Given the description of an element on the screen output the (x, y) to click on. 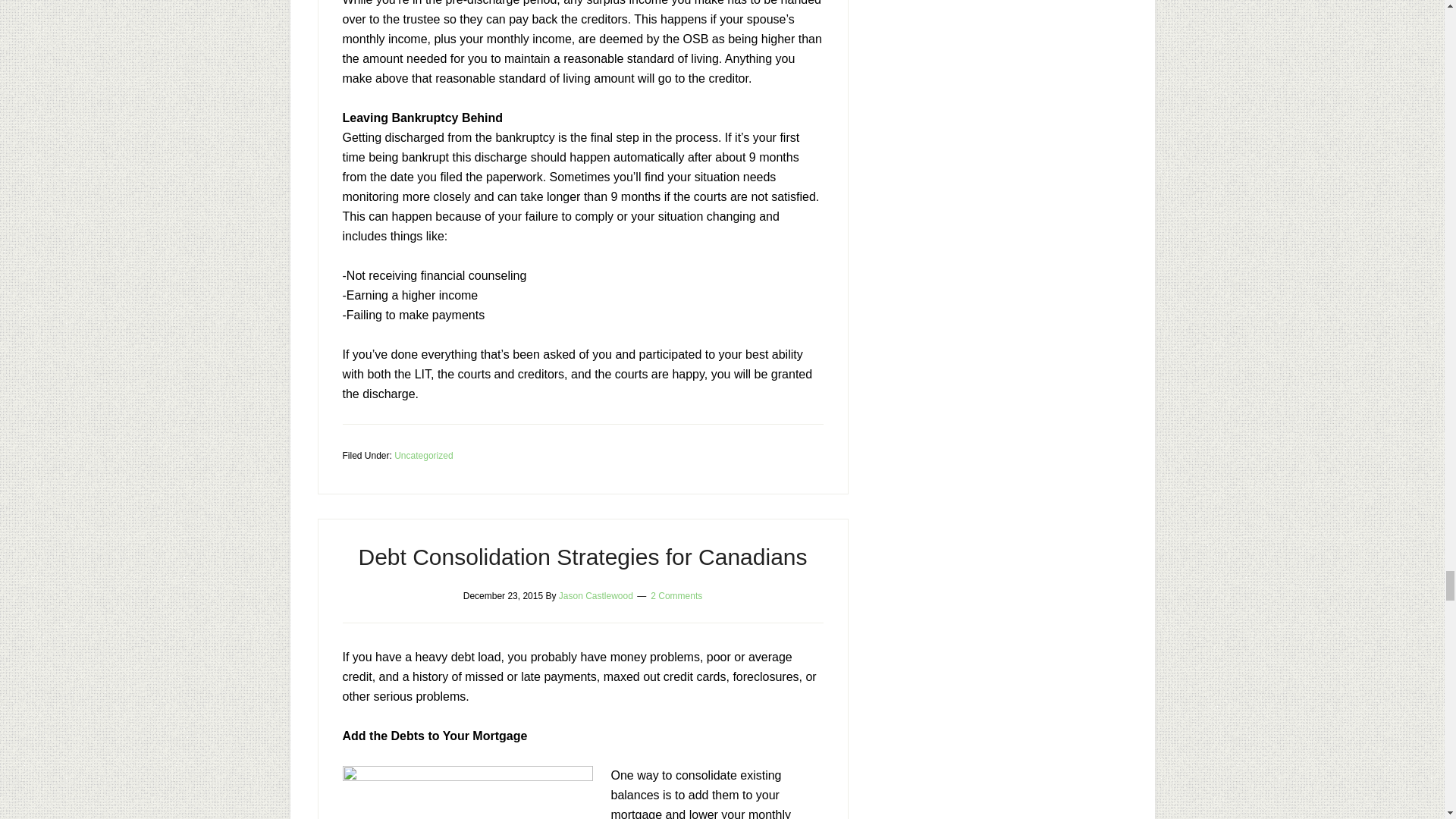
2 Comments (675, 595)
Debt Consolidation Strategies for Canadians (582, 556)
Uncategorized (423, 455)
Jason Castlewood (596, 595)
